Given the description of an element on the screen output the (x, y) to click on. 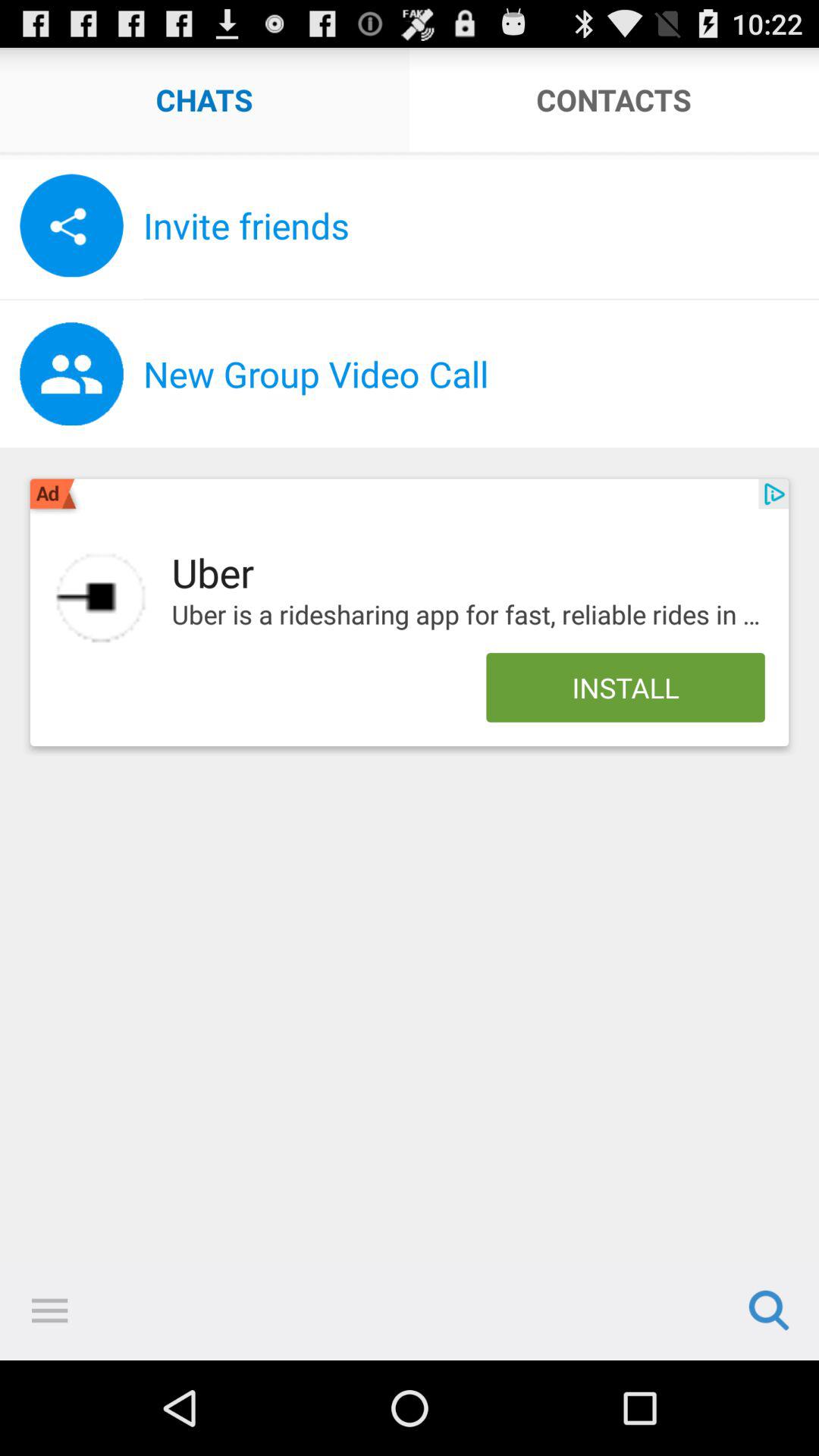
tap the new group video (481, 373)
